Given the description of an element on the screen output the (x, y) to click on. 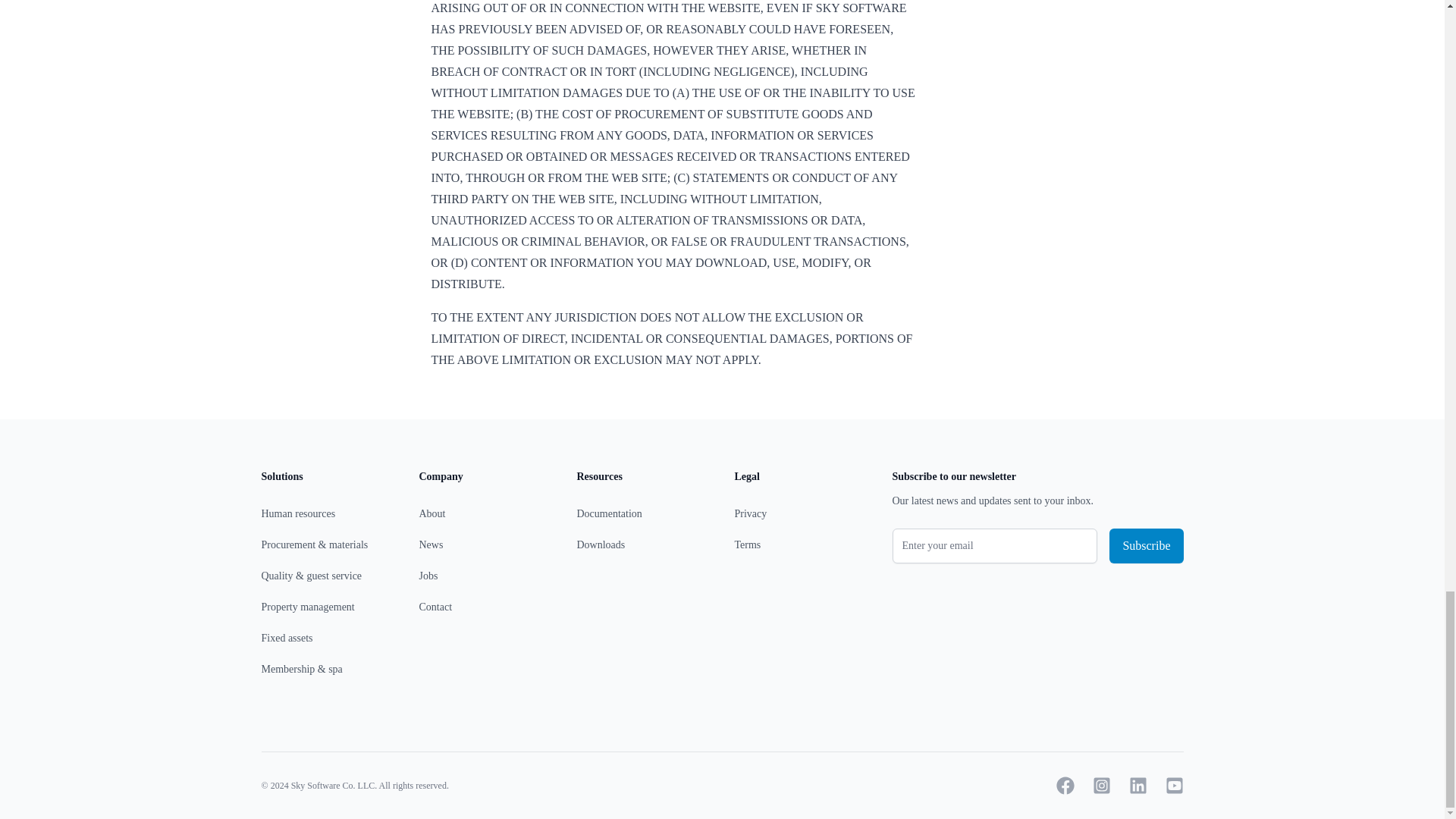
Contact (435, 606)
Terms (746, 544)
Privacy (750, 513)
News (430, 544)
Instagram (1100, 785)
Terms (746, 544)
Downloads (600, 544)
About (432, 513)
Human resources (297, 513)
Property management (306, 606)
Facebook (1064, 785)
Fixed assets management (286, 637)
Documentation (609, 513)
Documentation (609, 513)
LinkedIn (1137, 785)
